Given the description of an element on the screen output the (x, y) to click on. 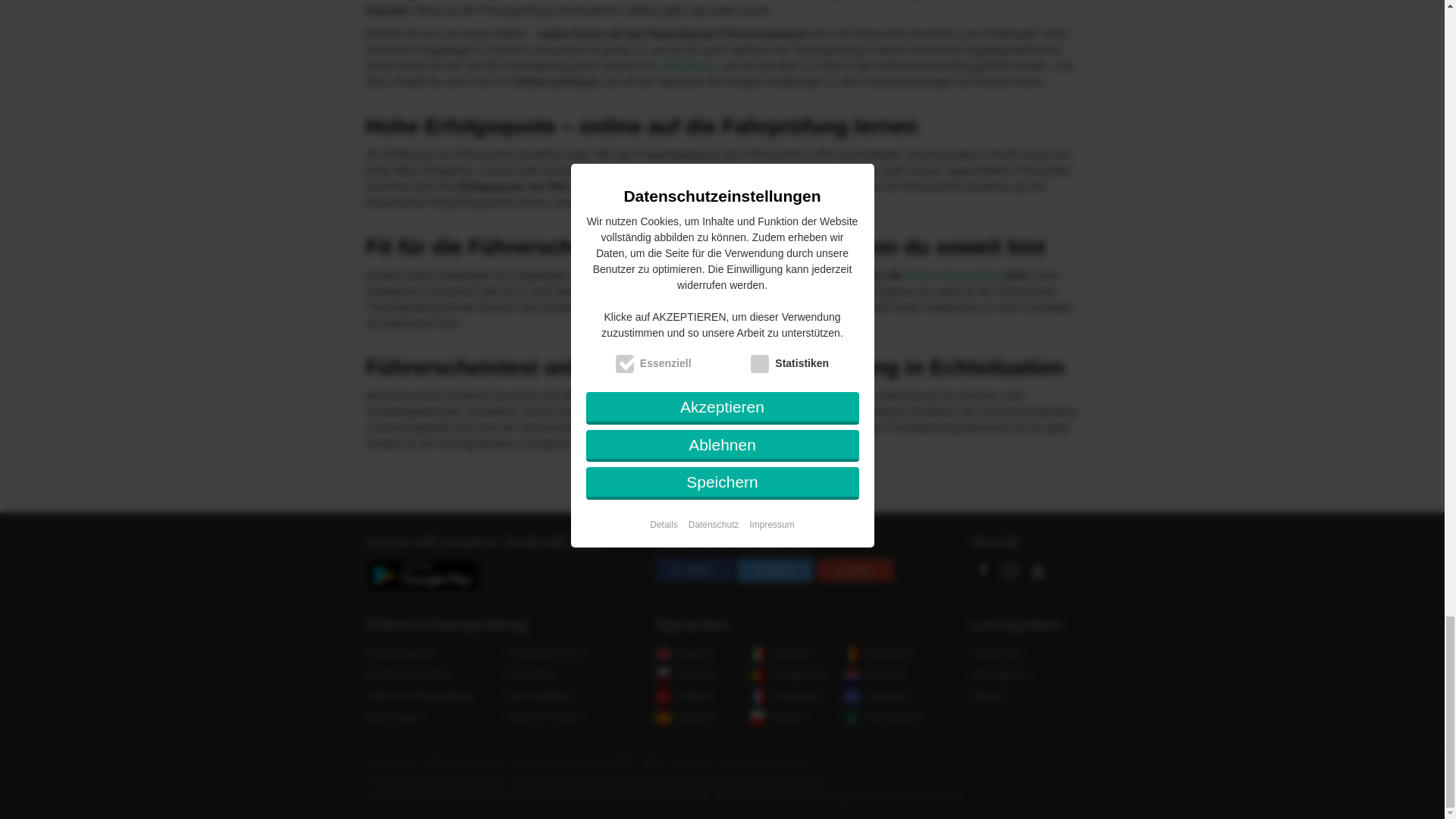
Bei Facebook teilen (694, 569)
Bei Twitter teilen (774, 569)
